Given the description of an element on the screen output the (x, y) to click on. 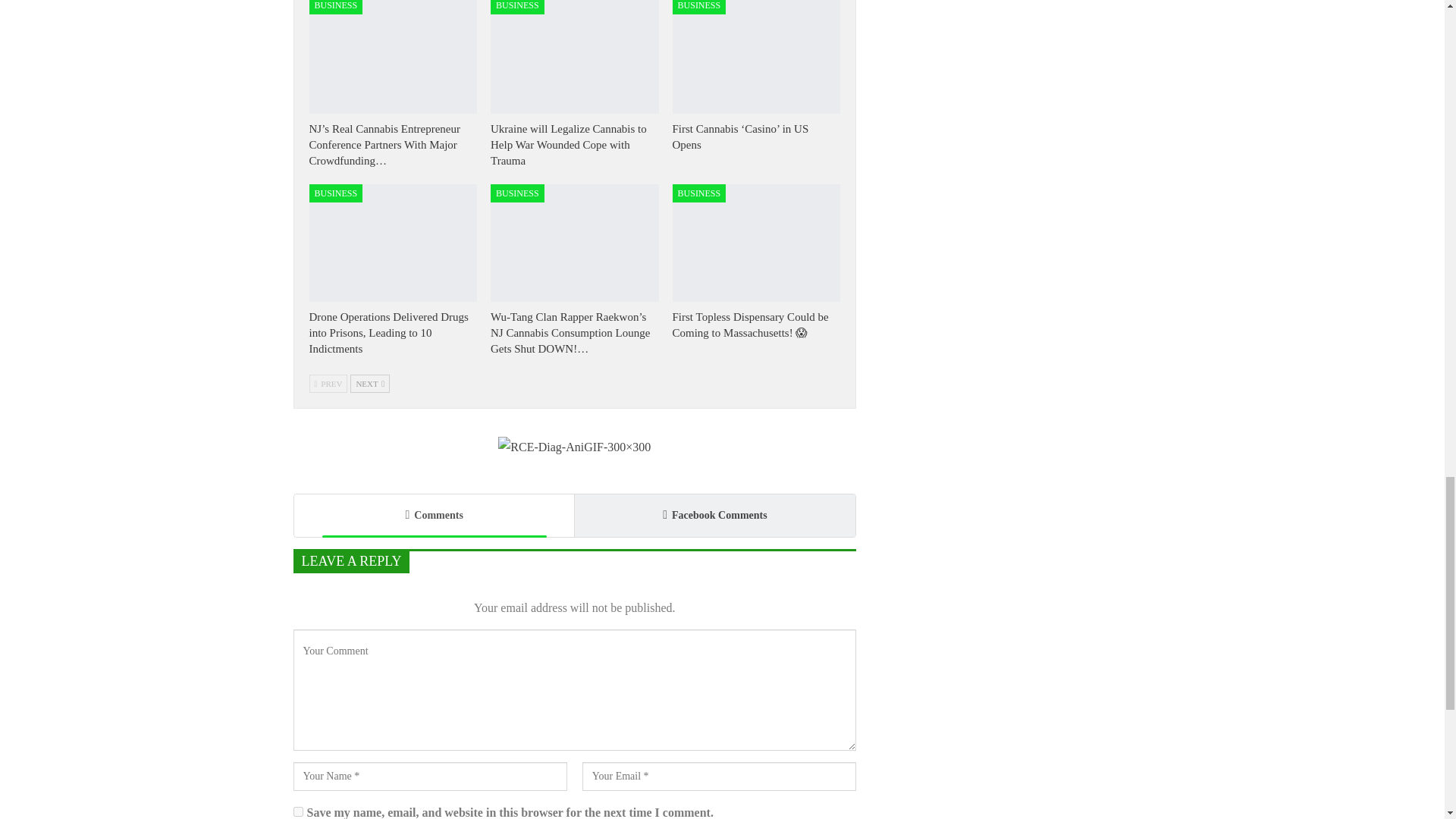
yes (297, 811)
